Given the description of an element on the screen output the (x, y) to click on. 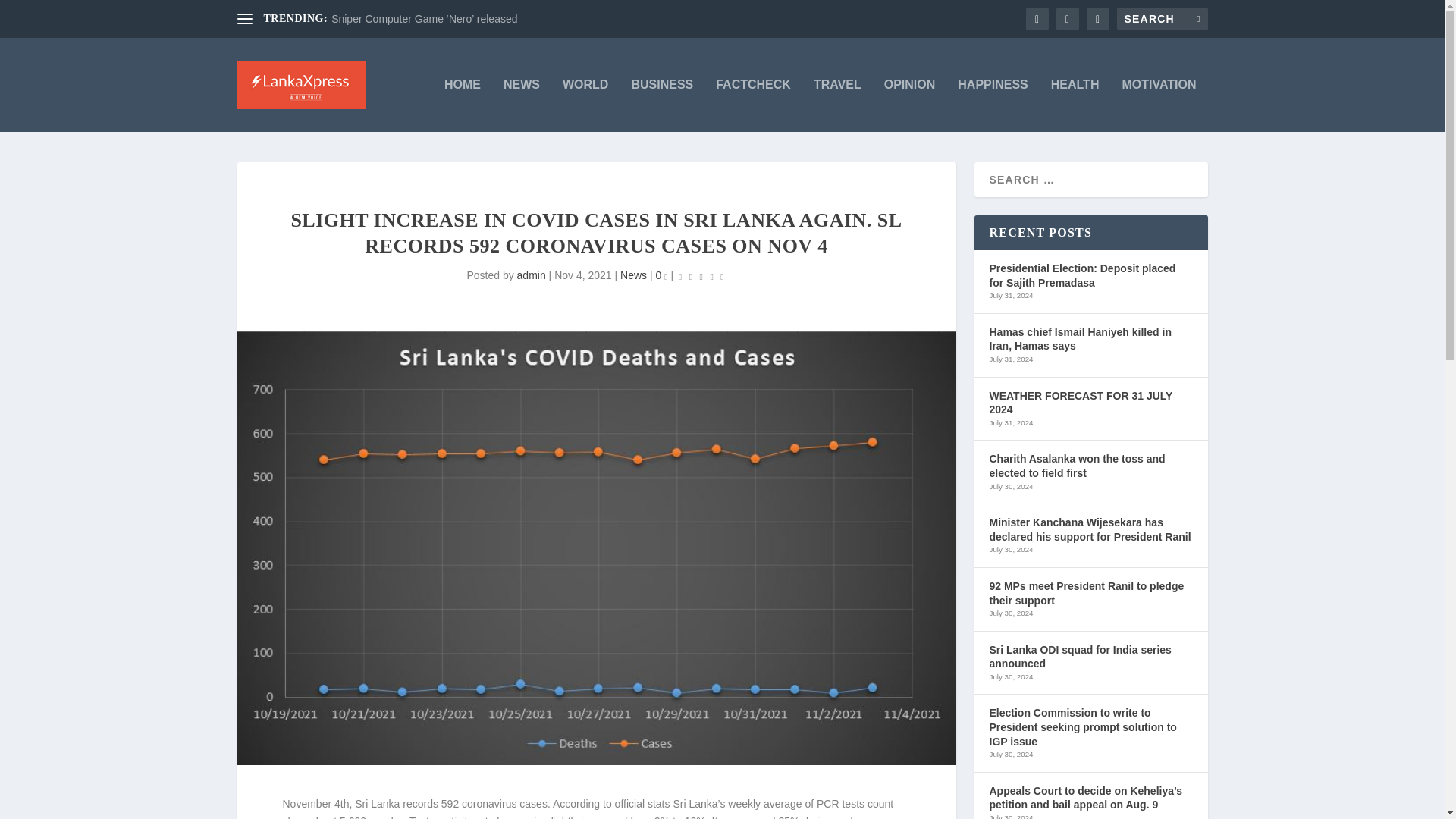
0 (660, 275)
MOTIVATION (1158, 104)
HAPPINESS (992, 104)
admin (531, 275)
HEALTH (1075, 104)
Rating: 0.00 (701, 275)
FACTCHECK (753, 104)
OPINION (909, 104)
TRAVEL (837, 104)
News (633, 275)
BUSINESS (661, 104)
Posts by admin (531, 275)
Search for: (1161, 18)
